Given the description of an element on the screen output the (x, y) to click on. 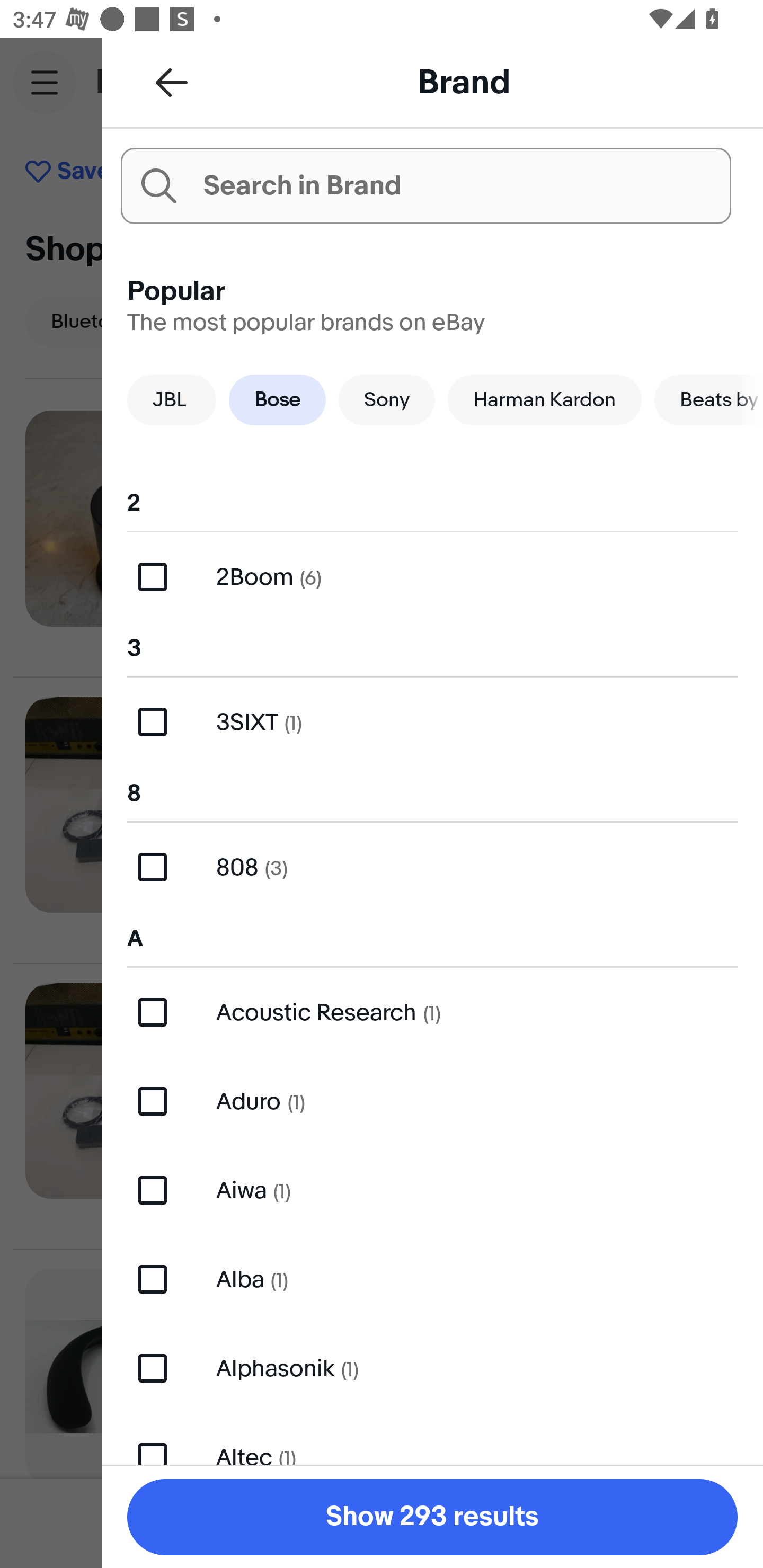
Back to all refinements (171, 81)
Search in Brand (425, 185)
JBL (171, 399)
Bose (276, 399)
Sony (386, 399)
Harman Kardon (544, 399)
Beats by Dr. Dre (708, 399)
2Boom (6) (432, 576)
3SIXT (1) (432, 721)
808 (3) (432, 867)
Acoustic Research (1) (432, 1011)
Aduro (1) (432, 1101)
Aiwa (1) (432, 1190)
Alba (1) (432, 1279)
Alphasonik (1) (432, 1367)
Altec (1) (432, 1438)
Show 293 results (432, 1516)
